Given the description of an element on the screen output the (x, y) to click on. 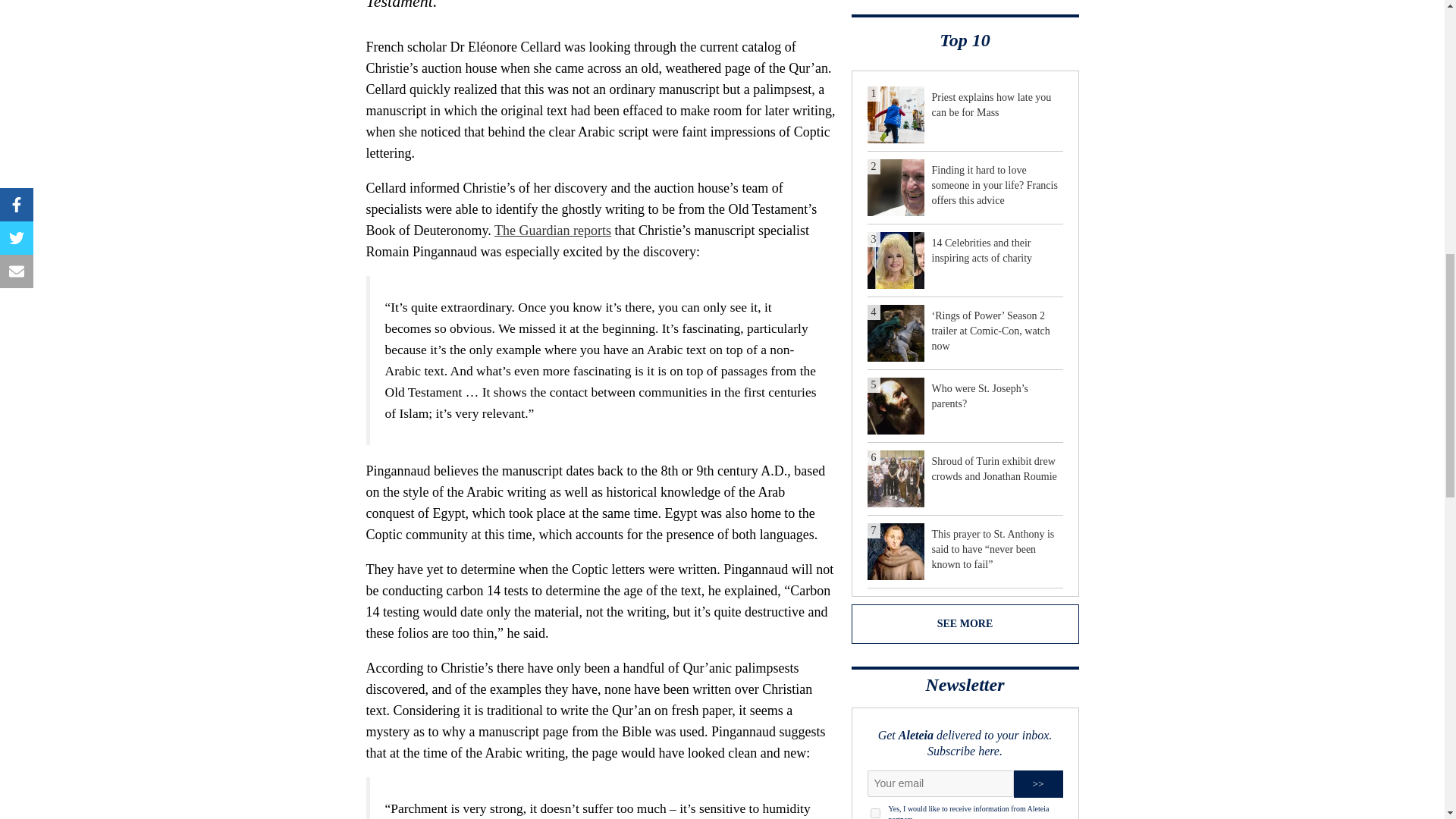
1 (875, 813)
The Guardian reports (553, 230)
